Given the description of an element on the screen output the (x, y) to click on. 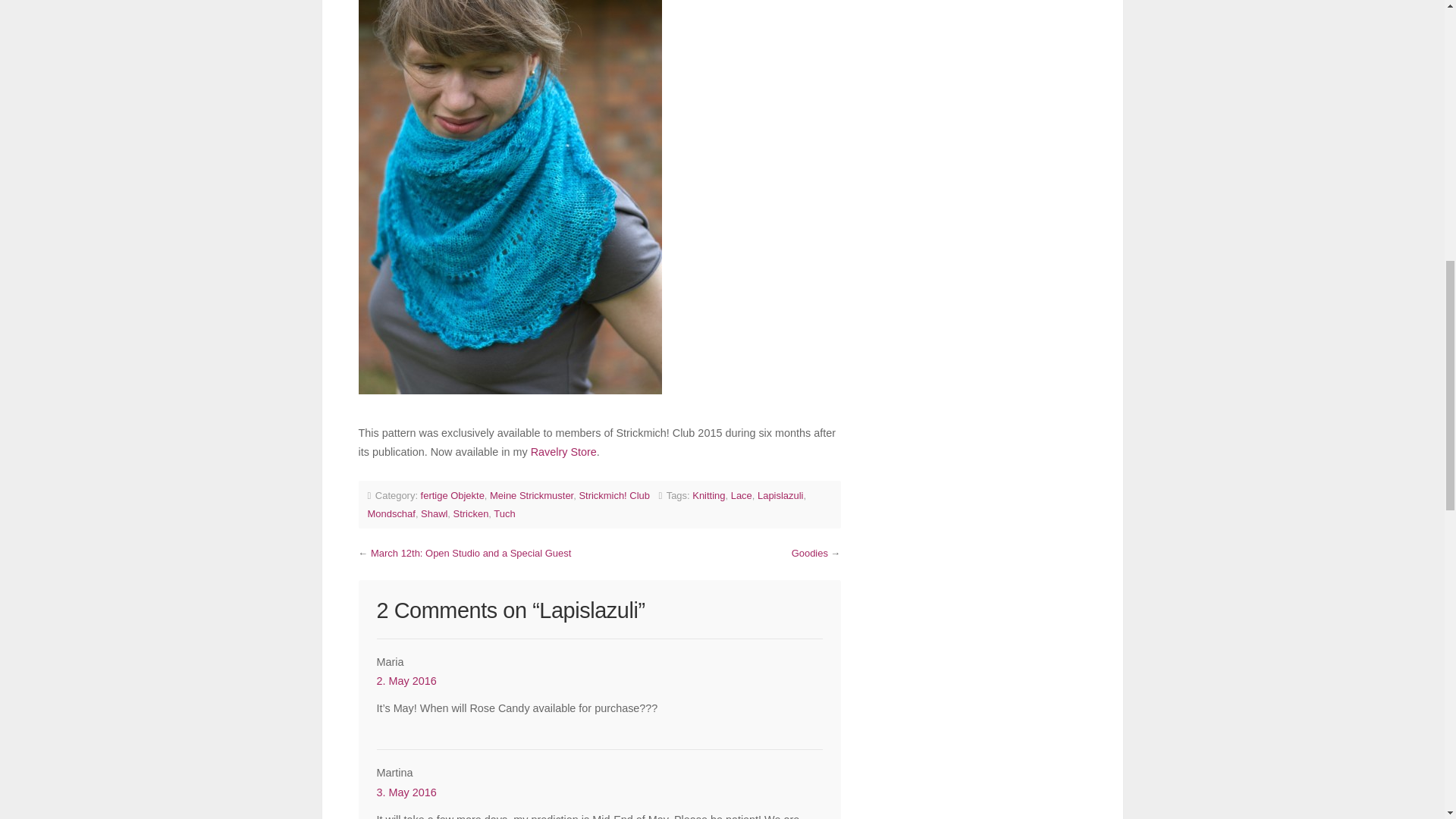
Stricken (470, 513)
2. May 2016 (405, 680)
Ravelry Store (563, 451)
Mondschaf (390, 513)
fertige Objekte (452, 495)
Knitting (709, 495)
Shawl (433, 513)
Lace (741, 495)
March 12th: Open Studio and a Special Guest (470, 552)
Meine Strickmuster (531, 495)
Tuch (504, 513)
Strickmich! Club (613, 495)
Lapislazuli (780, 495)
3. May 2016 (405, 792)
Goodies (810, 552)
